Given the description of an element on the screen output the (x, y) to click on. 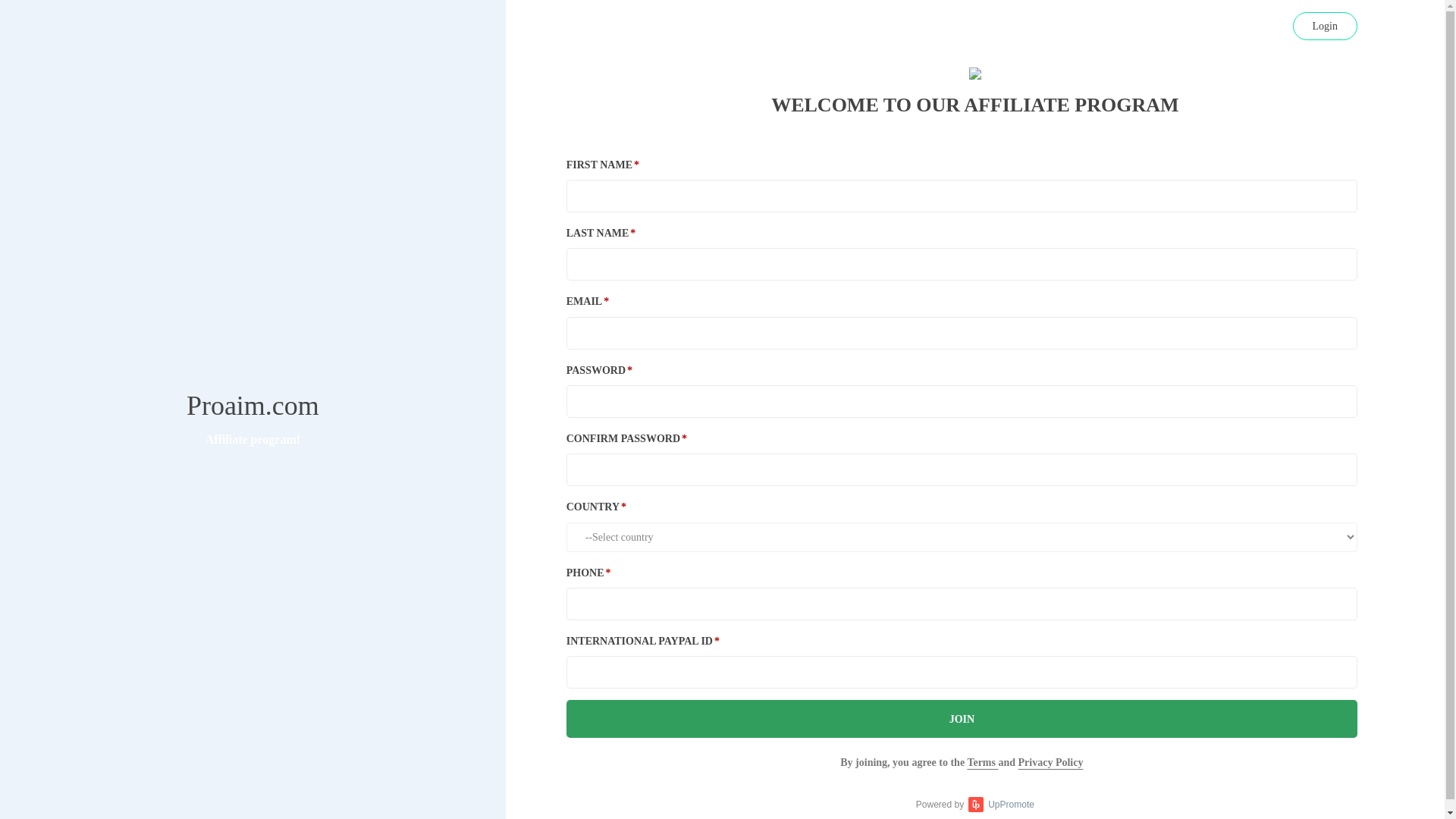
UpPromote (1000, 804)
Privacy Policy (1050, 762)
Terms (981, 762)
JOIN (961, 718)
Login (1324, 20)
Login (1324, 26)
Up Promote Affiliate Marketing (976, 804)
